Given the description of an element on the screen output the (x, y) to click on. 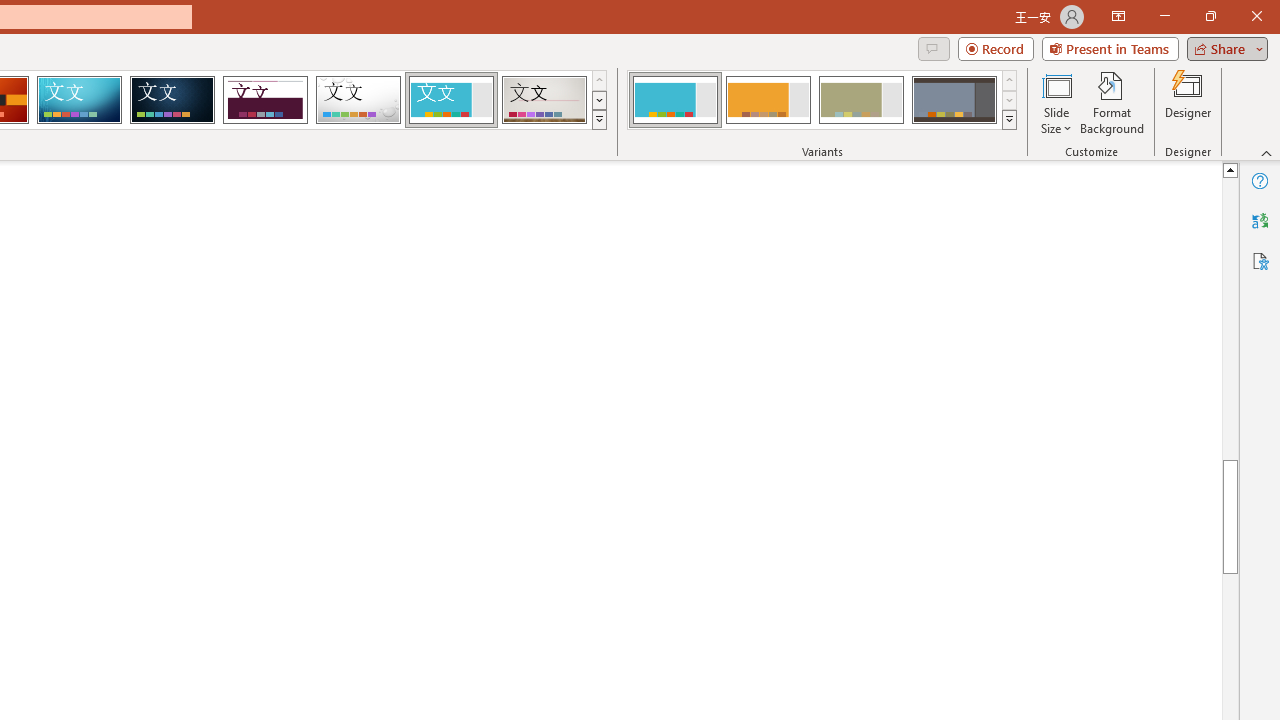
Gallery (544, 100)
TextBox 61 (742, 407)
Frame (450, 100)
